Given the description of an element on the screen output the (x, y) to click on. 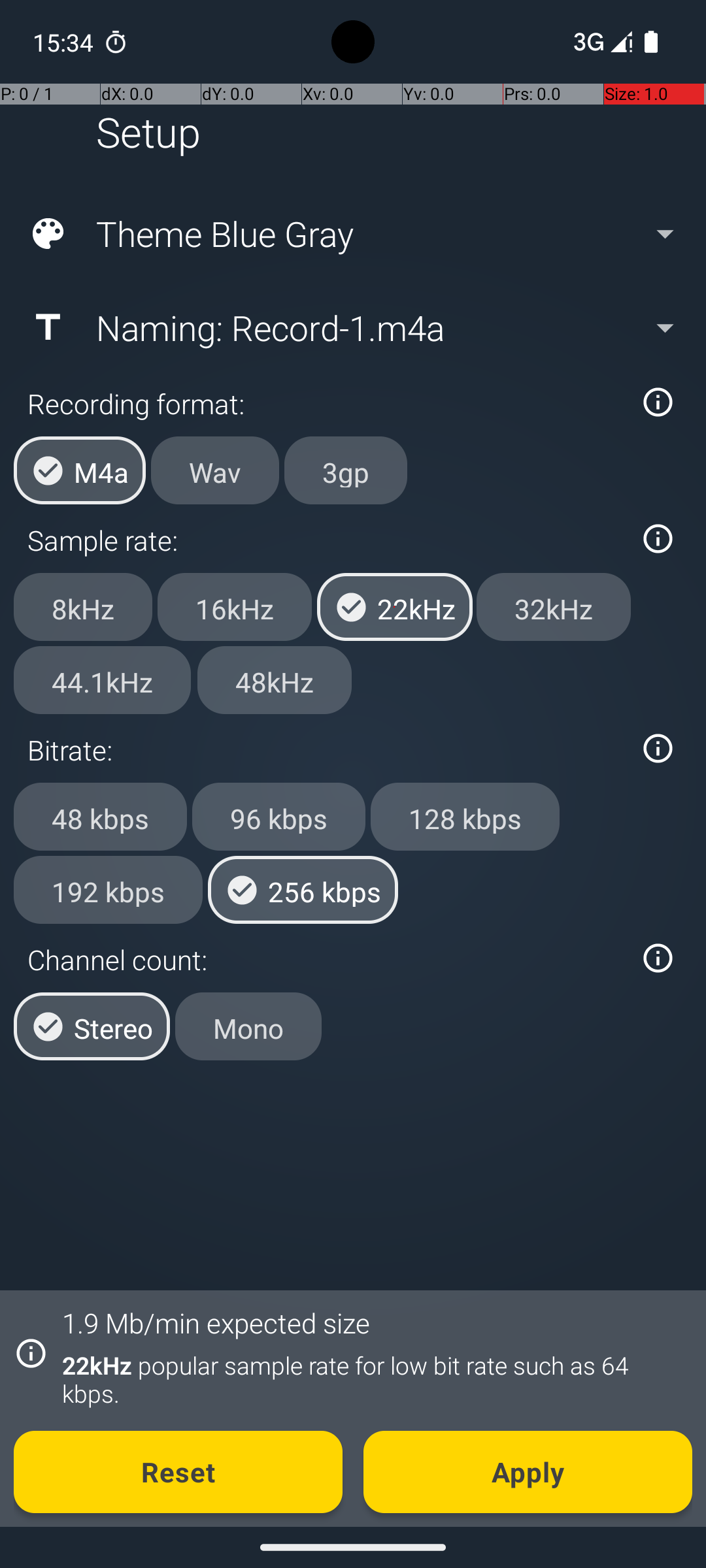
1.9 Mb/min expected size Element type: android.widget.TextView (215, 1322)
22kHz popular sample rate for low bit rate such as 64 kbps. Element type: android.widget.TextView (370, 1378)
